Given the description of an element on the screen output the (x, y) to click on. 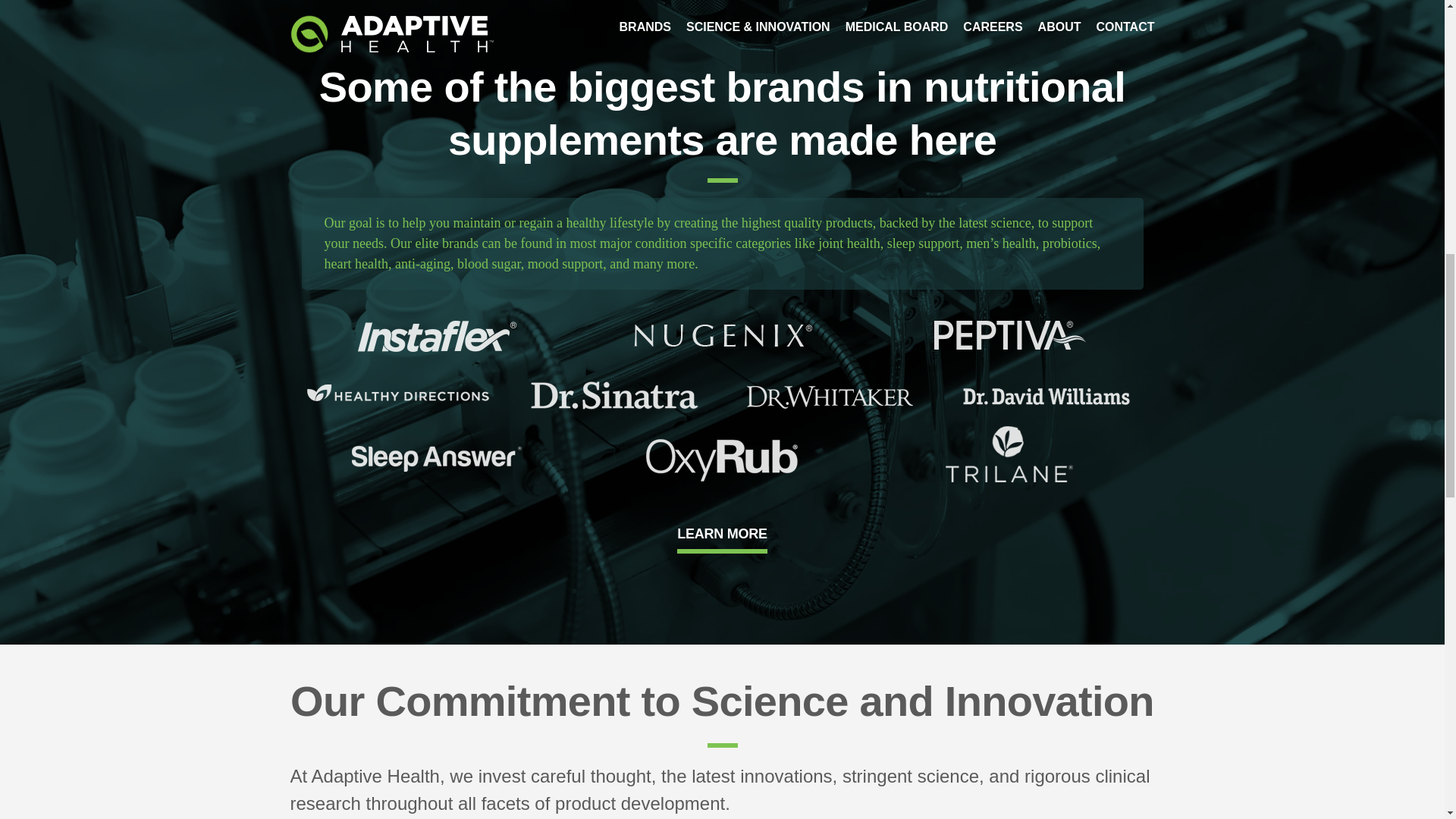
LEARN MORE (722, 533)
LEARN MORE (722, 531)
